Given the description of an element on the screen output the (x, y) to click on. 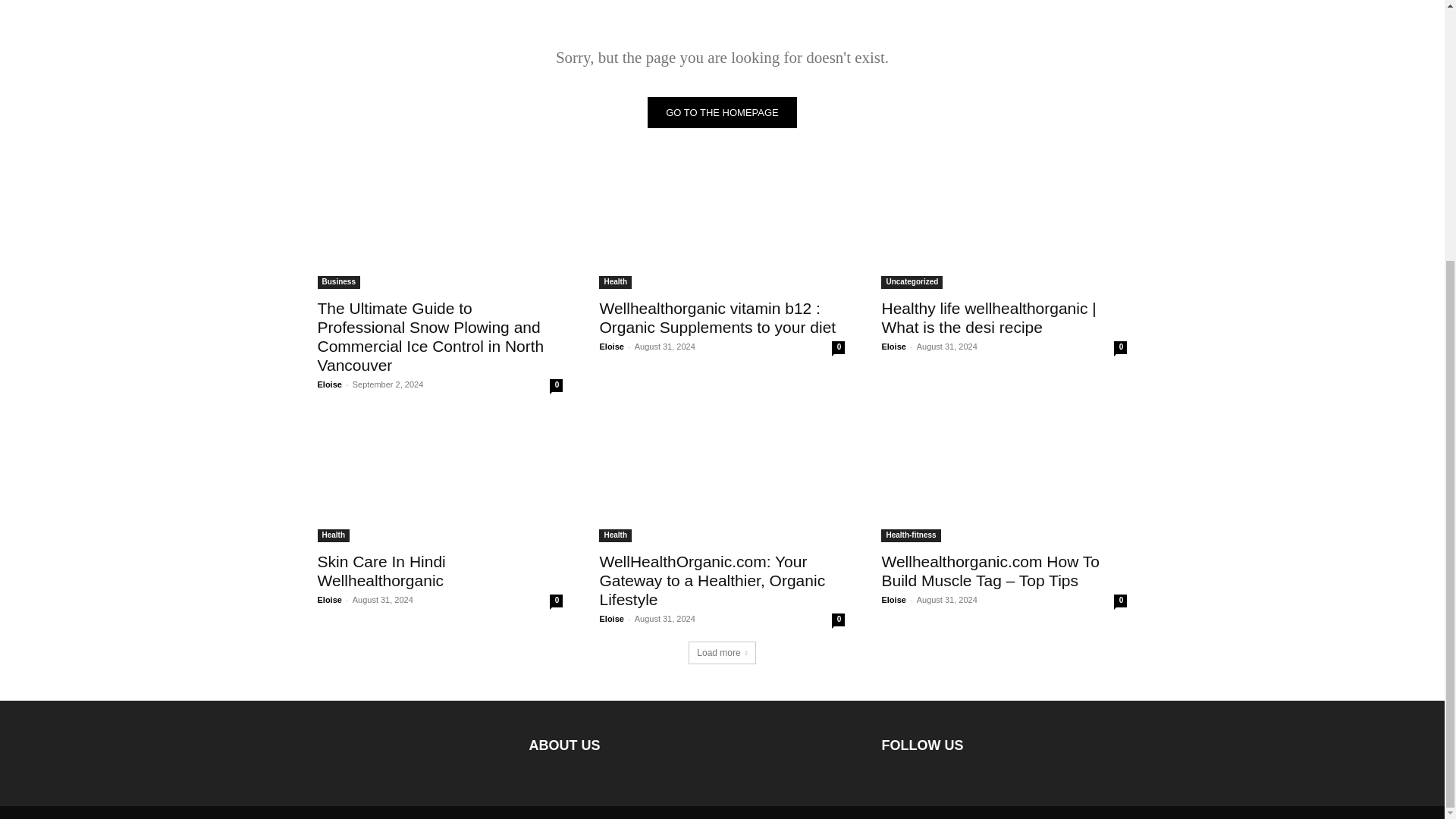
Eloise (328, 599)
Skin Care In Hindi Wellhealthorganic (381, 570)
Health (614, 535)
Skin Care In Hindi Wellhealthorganic (381, 570)
